Given the description of an element on the screen output the (x, y) to click on. 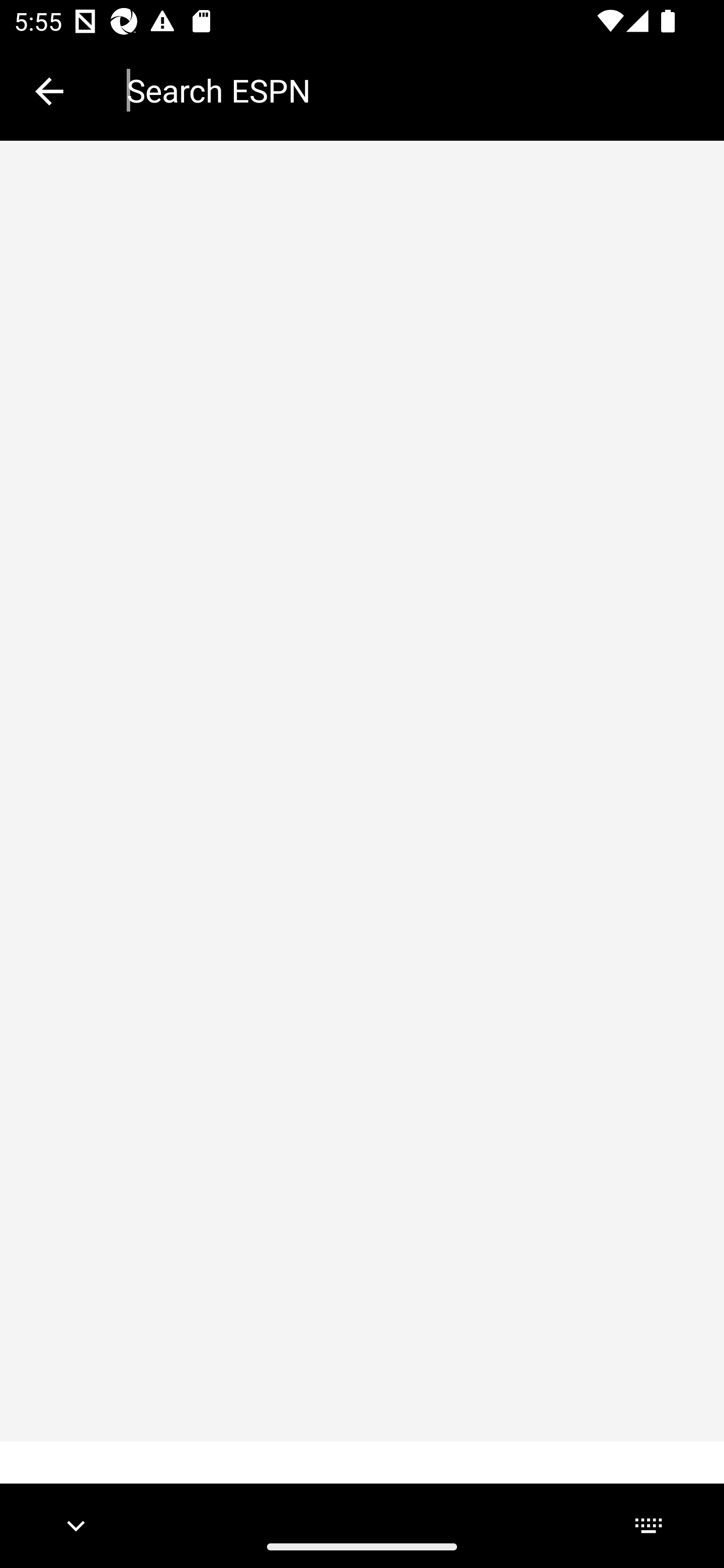
Collapse (49, 91)
Search ESPN (411, 90)
